Given the description of an element on the screen output the (x, y) to click on. 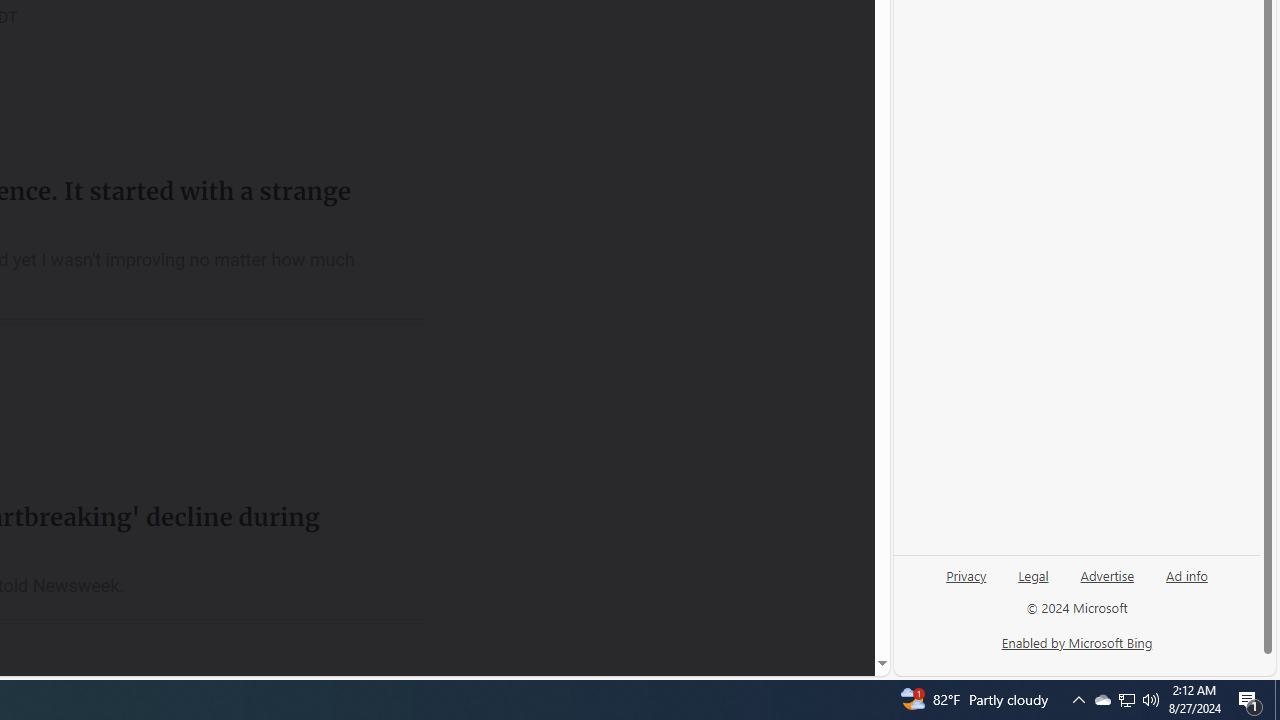
Ad info (1186, 583)
Advertise (1107, 574)
Legal (1033, 583)
Legal (1033, 574)
Privacy (966, 583)
Ad info (1187, 574)
Privacy (965, 574)
Advertise (1106, 583)
